Given the description of an element on the screen output the (x, y) to click on. 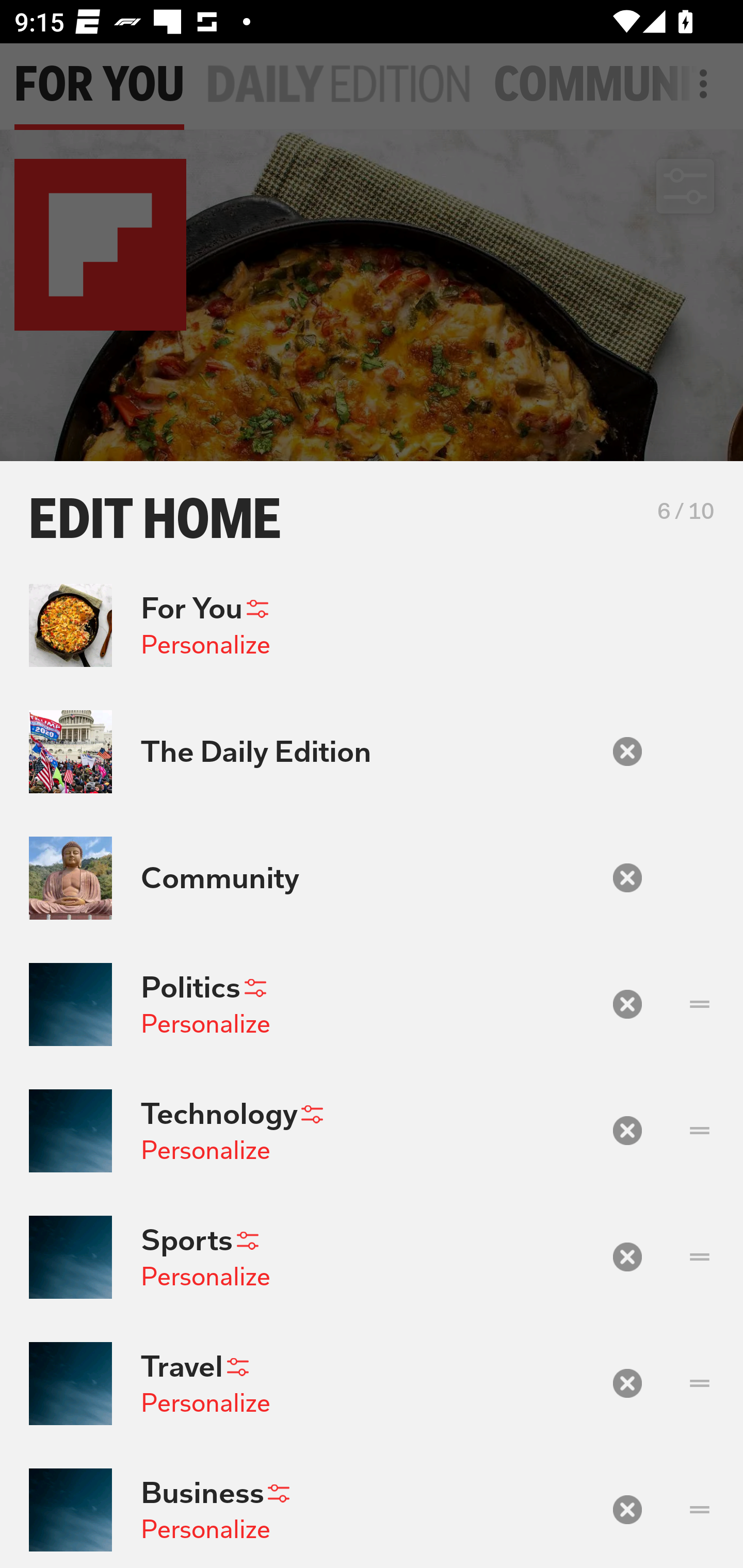
Personalize (205, 644)
Personalize (205, 1023)
Personalize (205, 1149)
Personalize (205, 1276)
Personalize (205, 1403)
Personalize (205, 1528)
